Given the description of an element on the screen output the (x, y) to click on. 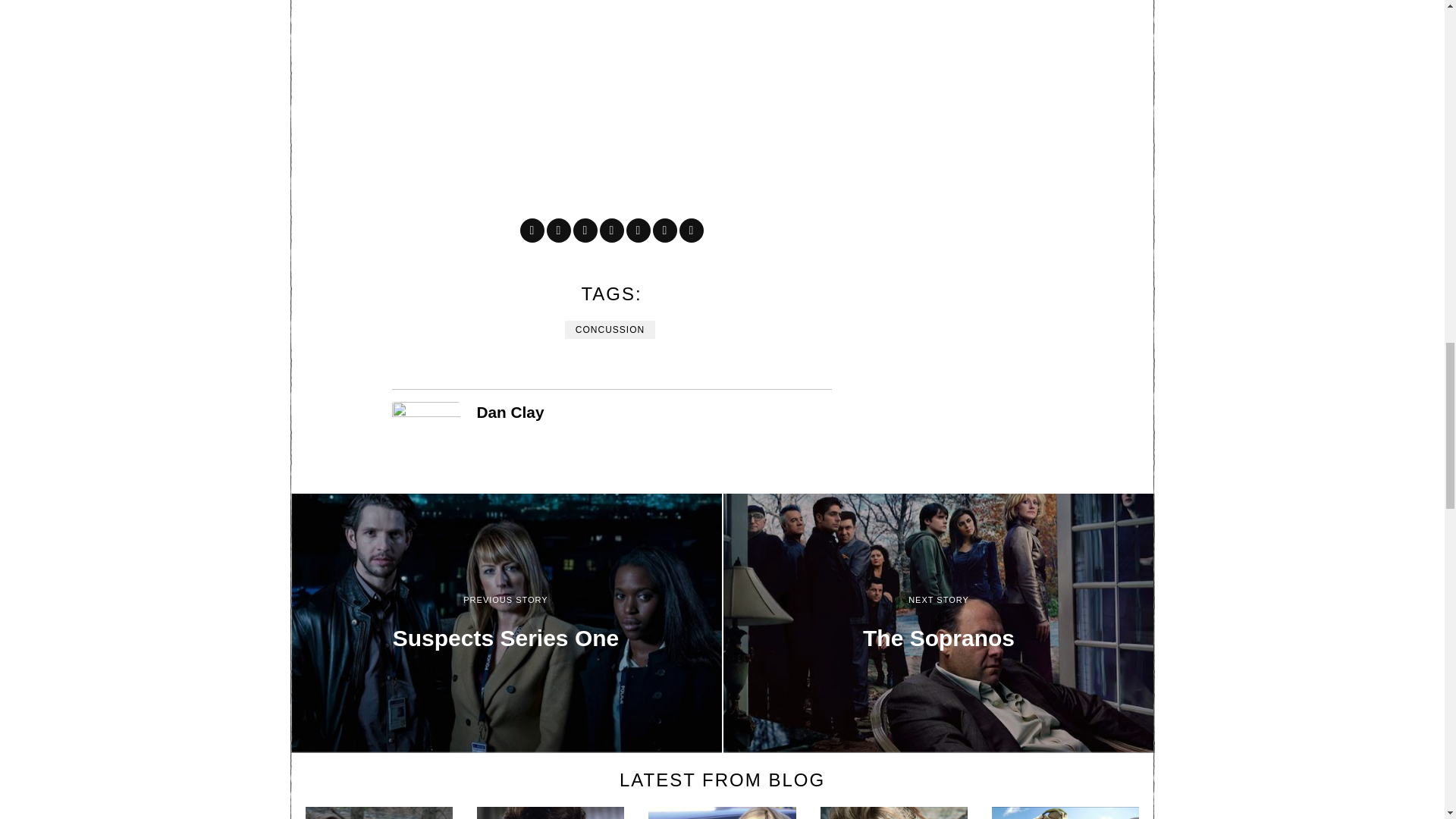
Dan Clay (509, 411)
CONCUSSION (609, 330)
